Given the description of an element on the screen output the (x, y) to click on. 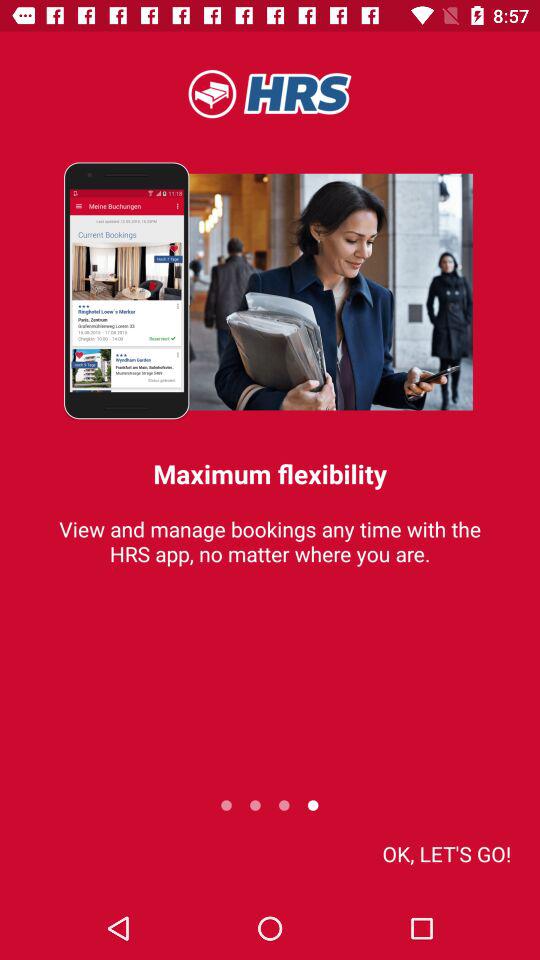
launch the icon below view and manage icon (446, 853)
